Given the description of an element on the screen output the (x, y) to click on. 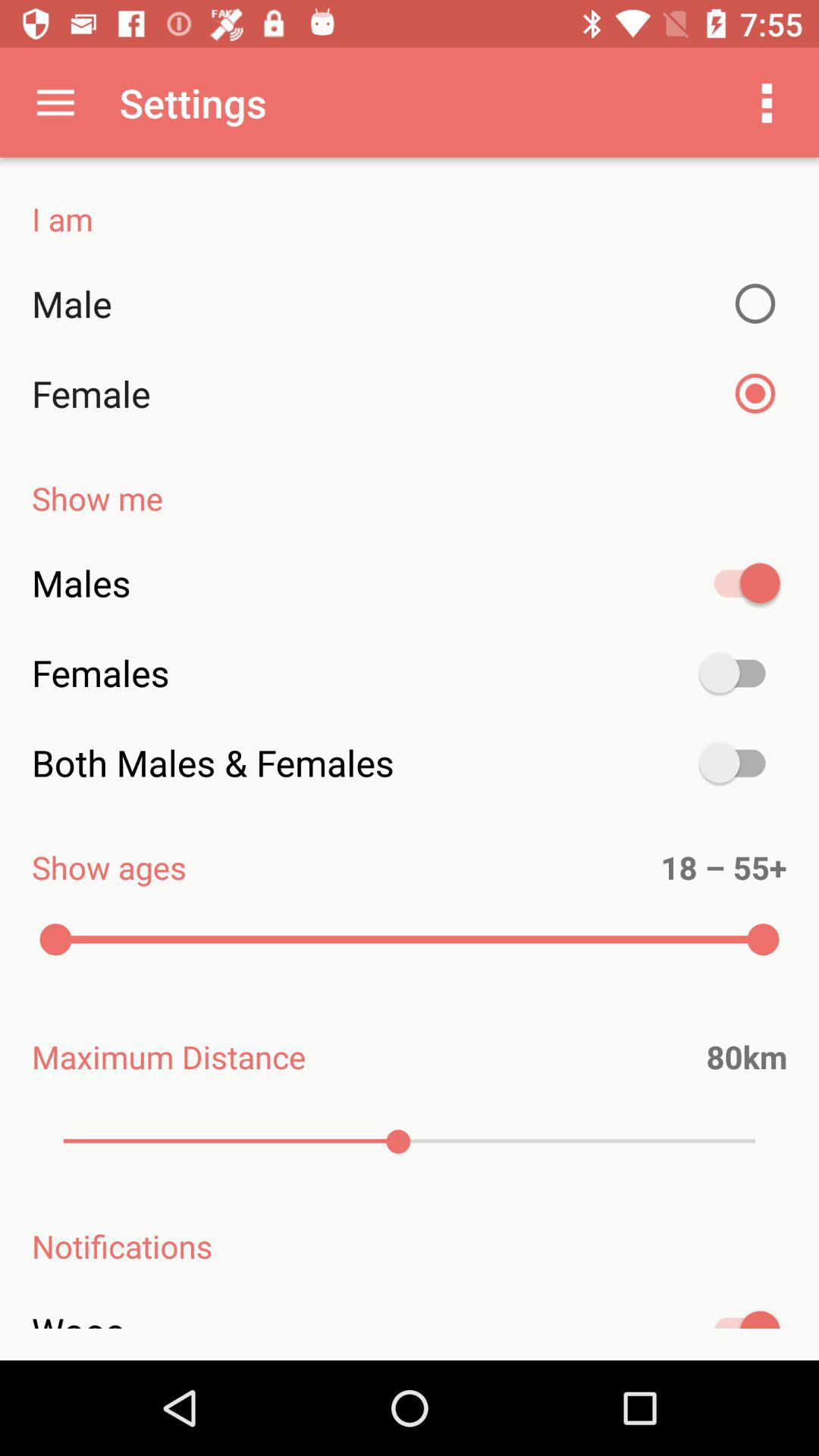
select app next to the settings (55, 102)
